Given the description of an element on the screen output the (x, y) to click on. 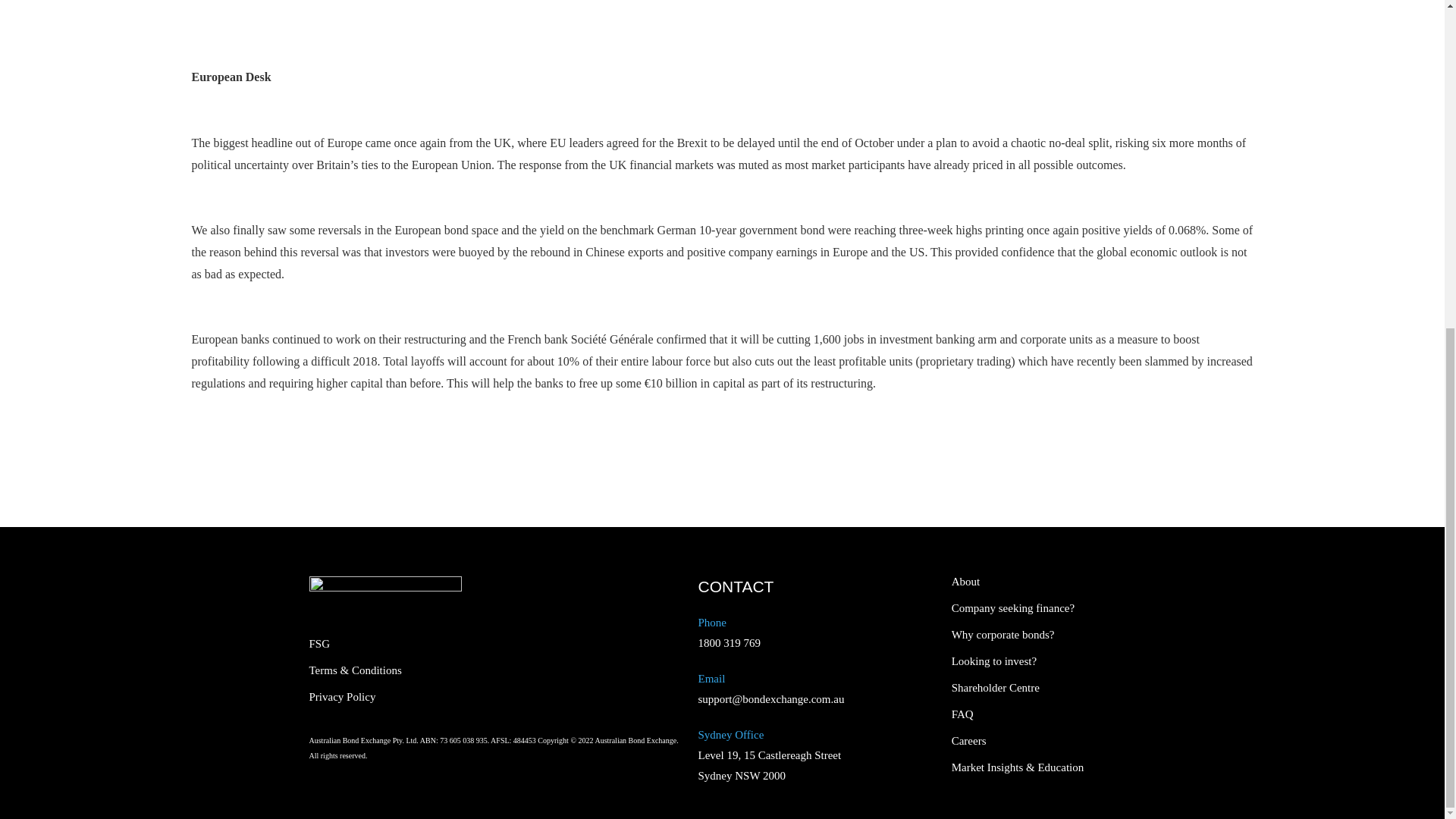
FAQ (1027, 714)
Shareholder Centre (1027, 687)
Looking to invest? (1027, 661)
FSG (395, 644)
Company seeking finance? (1027, 608)
Why corporate bonds? (1027, 634)
Careers (1027, 740)
About (1027, 582)
Privacy Policy (395, 696)
